Given the description of an element on the screen output the (x, y) to click on. 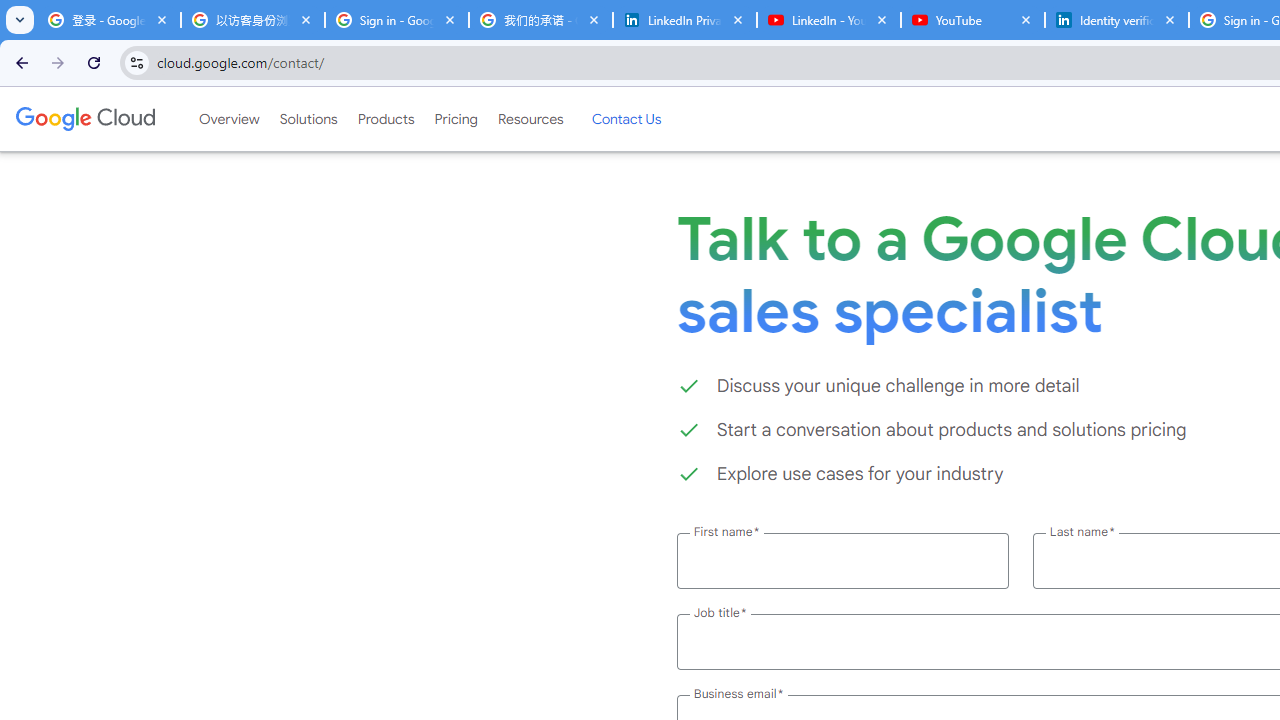
YouTube (972, 20)
Resources (530, 119)
LinkedIn Privacy Policy (684, 20)
Solutions (308, 119)
Sign in - Google Accounts (396, 20)
Contact Us (626, 119)
